Given the description of an element on the screen output the (x, y) to click on. 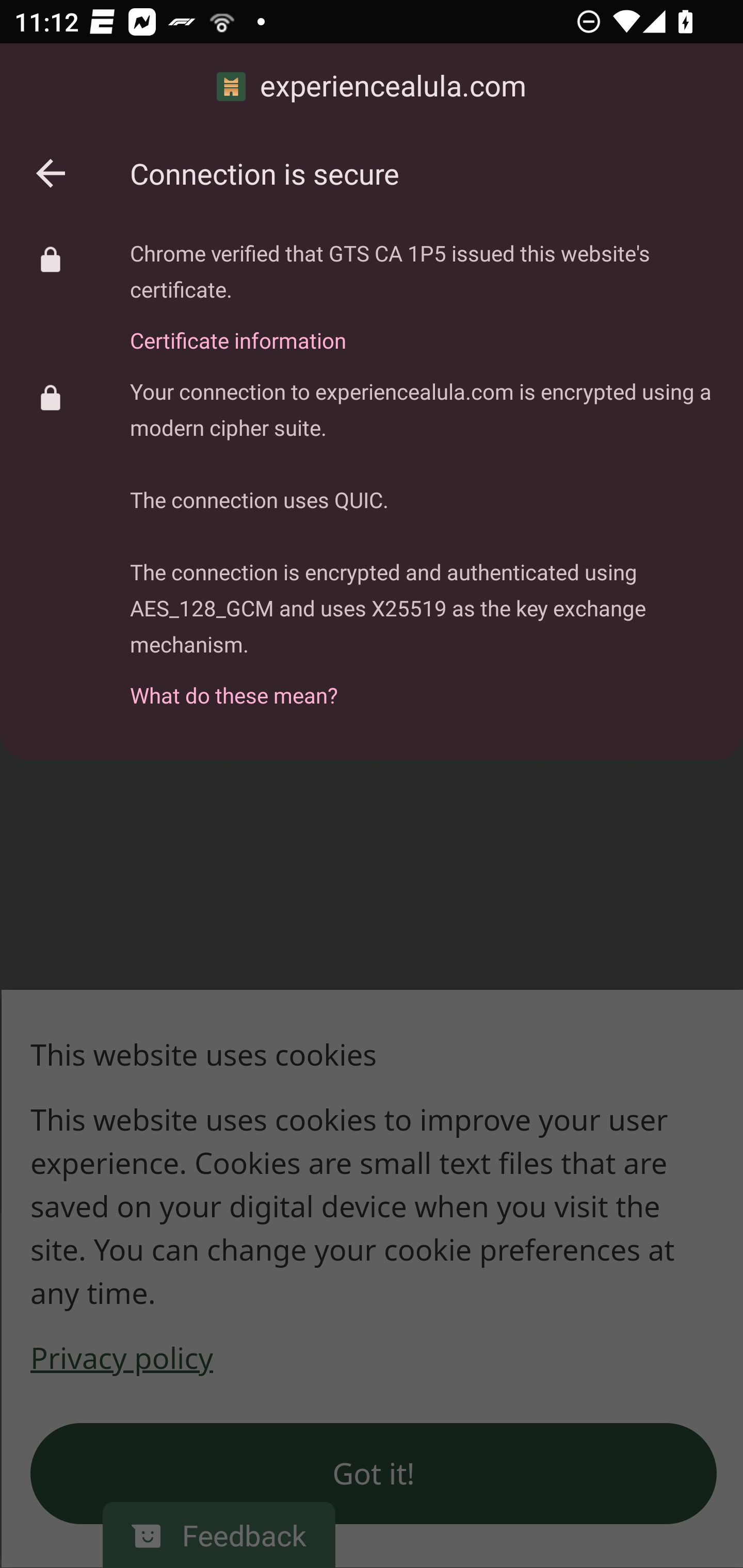
experiencealula.com (371, 86)
Back (50, 173)
Certificate information (422, 329)
What do these mean? (422, 684)
